Given the description of an element on the screen output the (x, y) to click on. 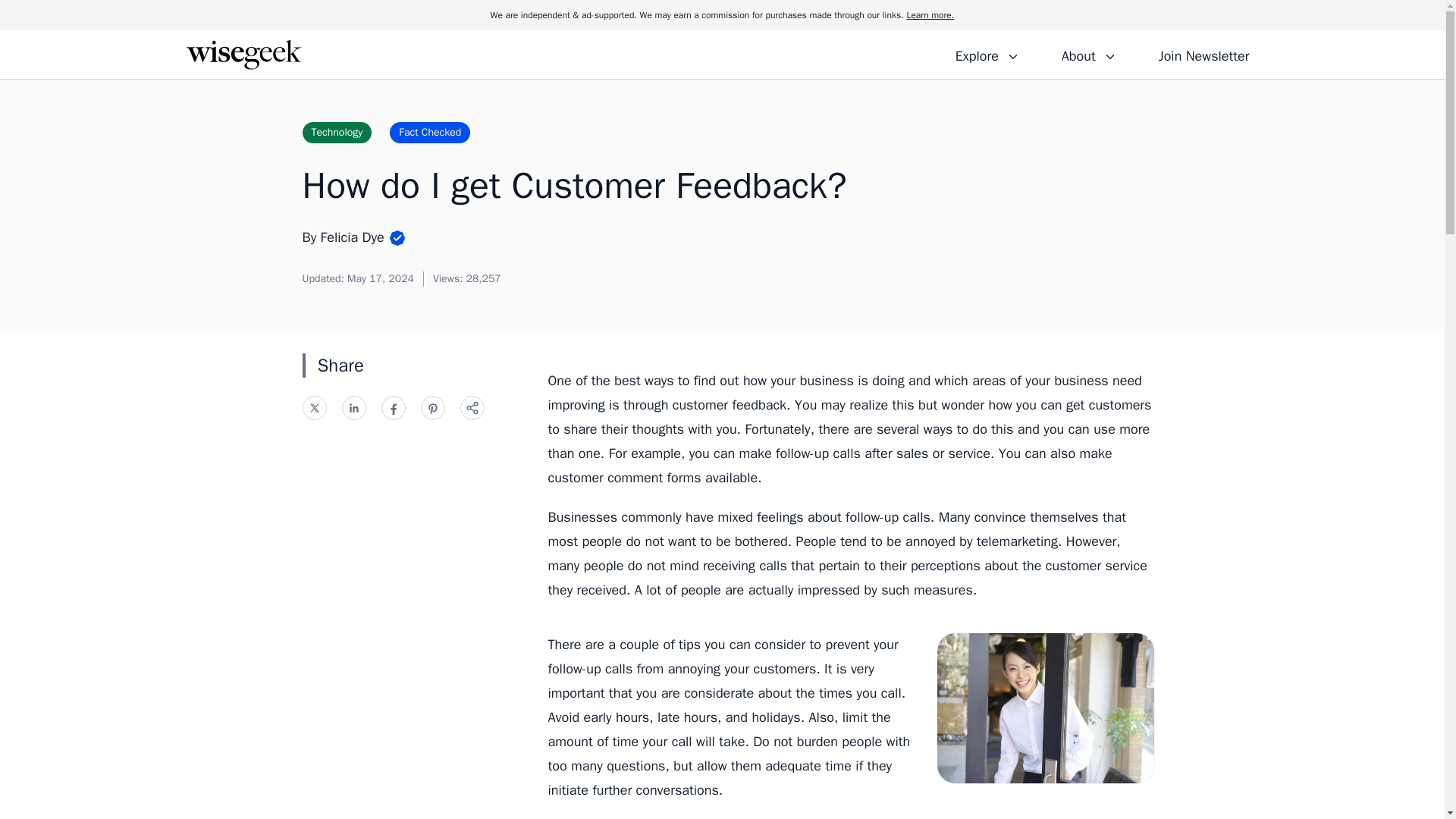
Technology (336, 132)
Explore (986, 54)
About (1088, 54)
Learn more. (929, 15)
Join Newsletter (1202, 54)
Fact Checked (430, 132)
